Given the description of an element on the screen output the (x, y) to click on. 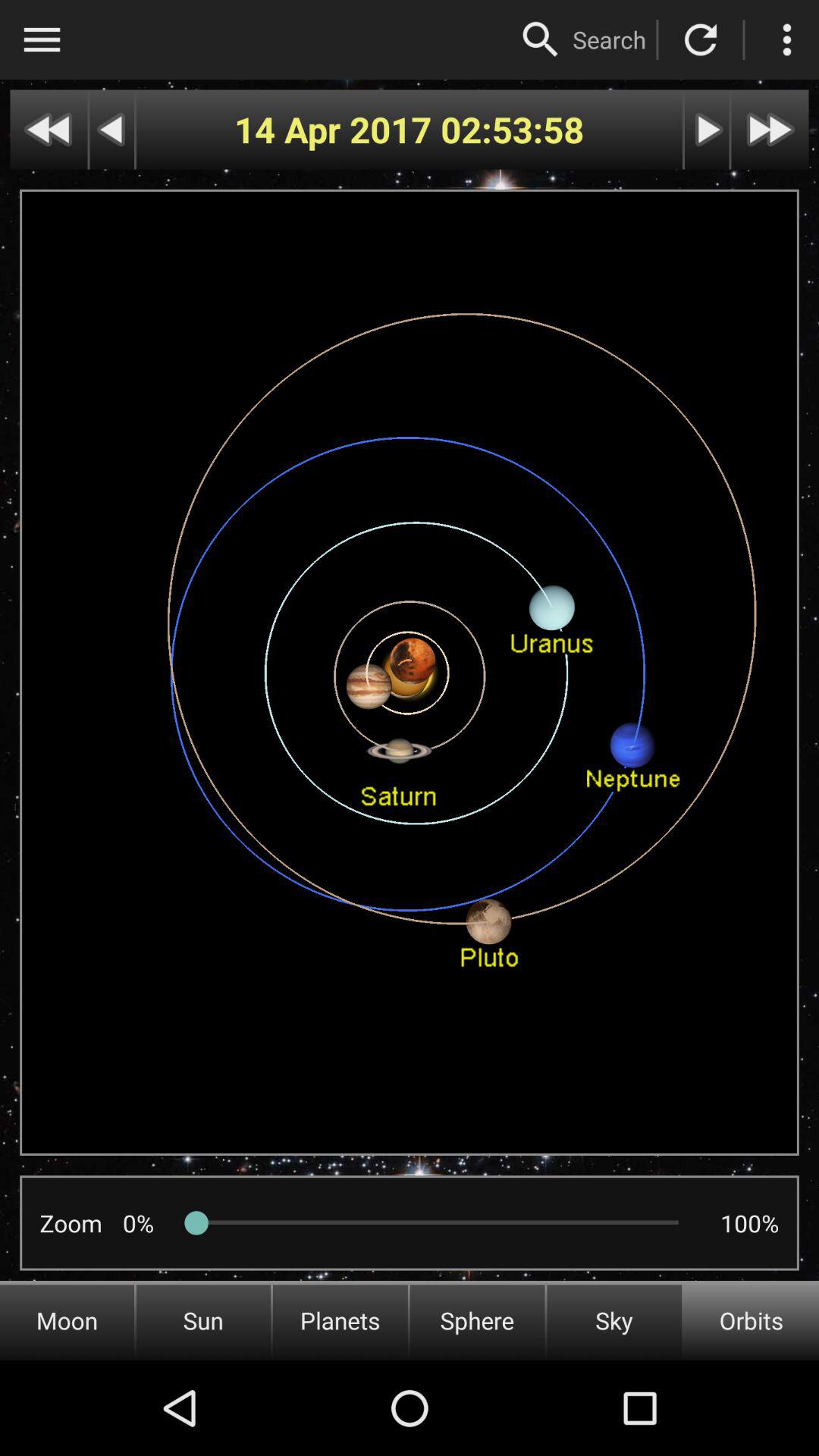
go back (48, 129)
